Given the description of an element on the screen output the (x, y) to click on. 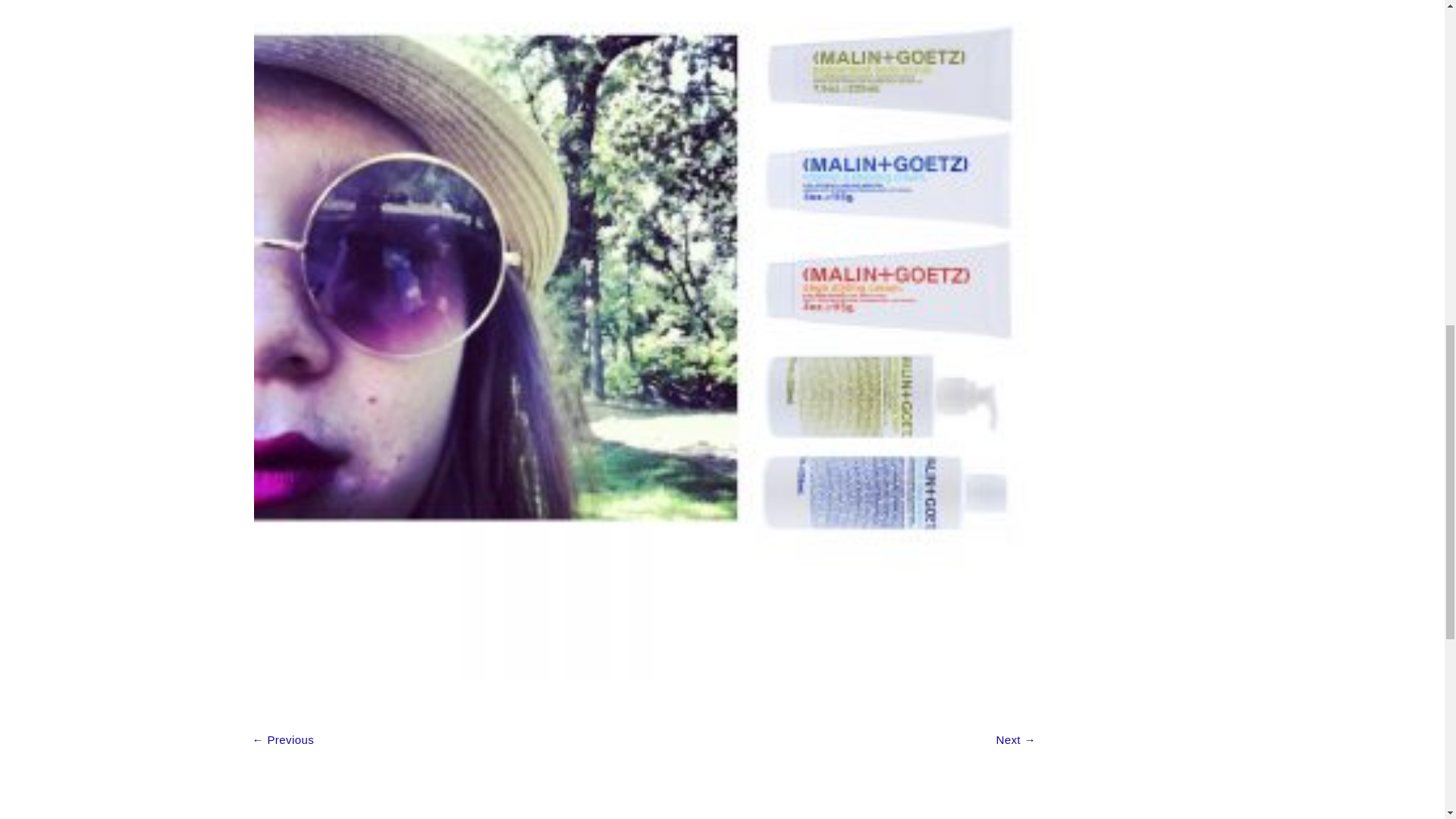
Read DOMA Attorney Event. (1015, 739)
Read Chicagoetz. (282, 739)
